Given the description of an element on the screen output the (x, y) to click on. 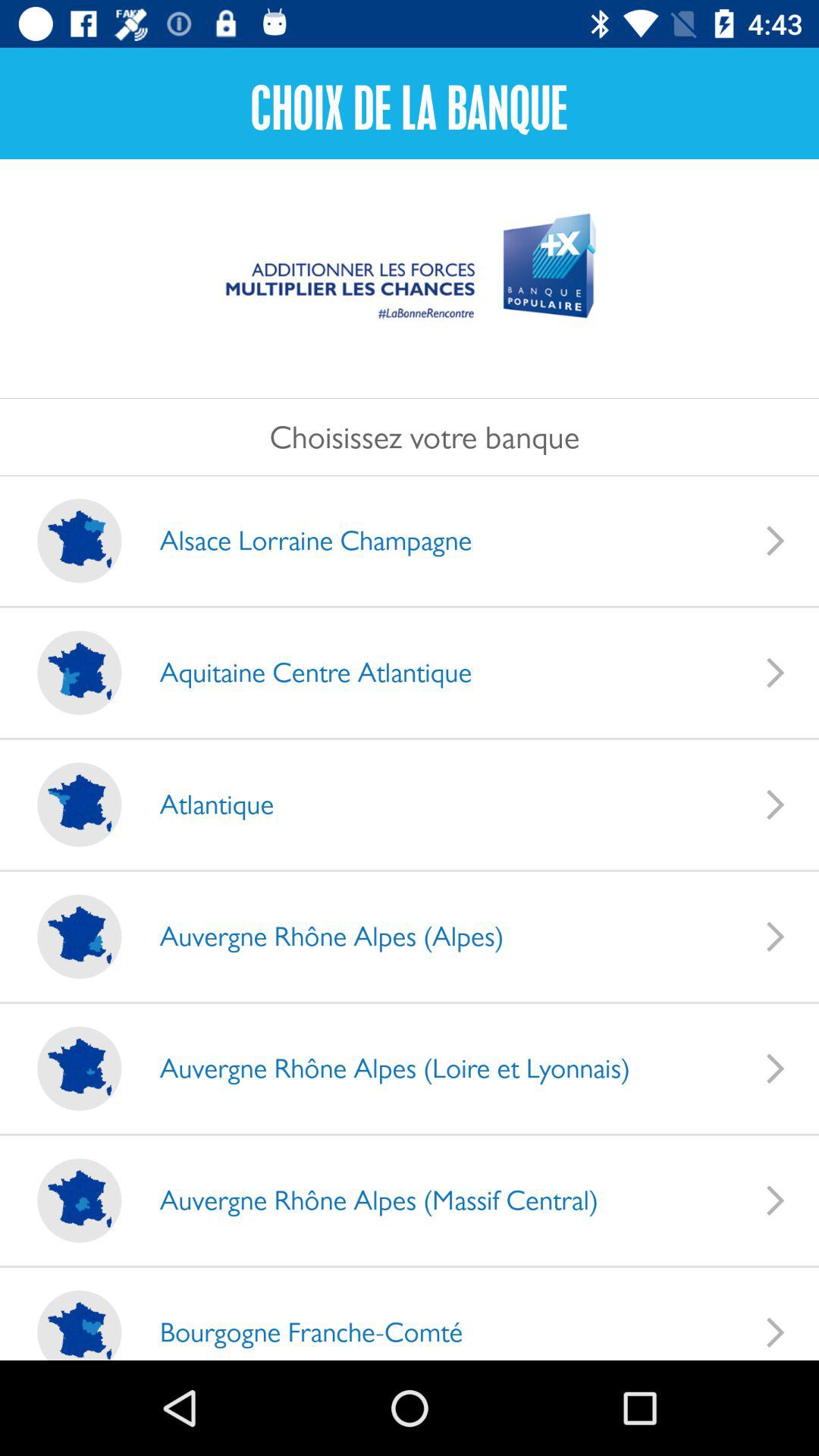
swipe until the alsace lorraine champagne icon (300, 540)
